Given the description of an element on the screen output the (x, y) to click on. 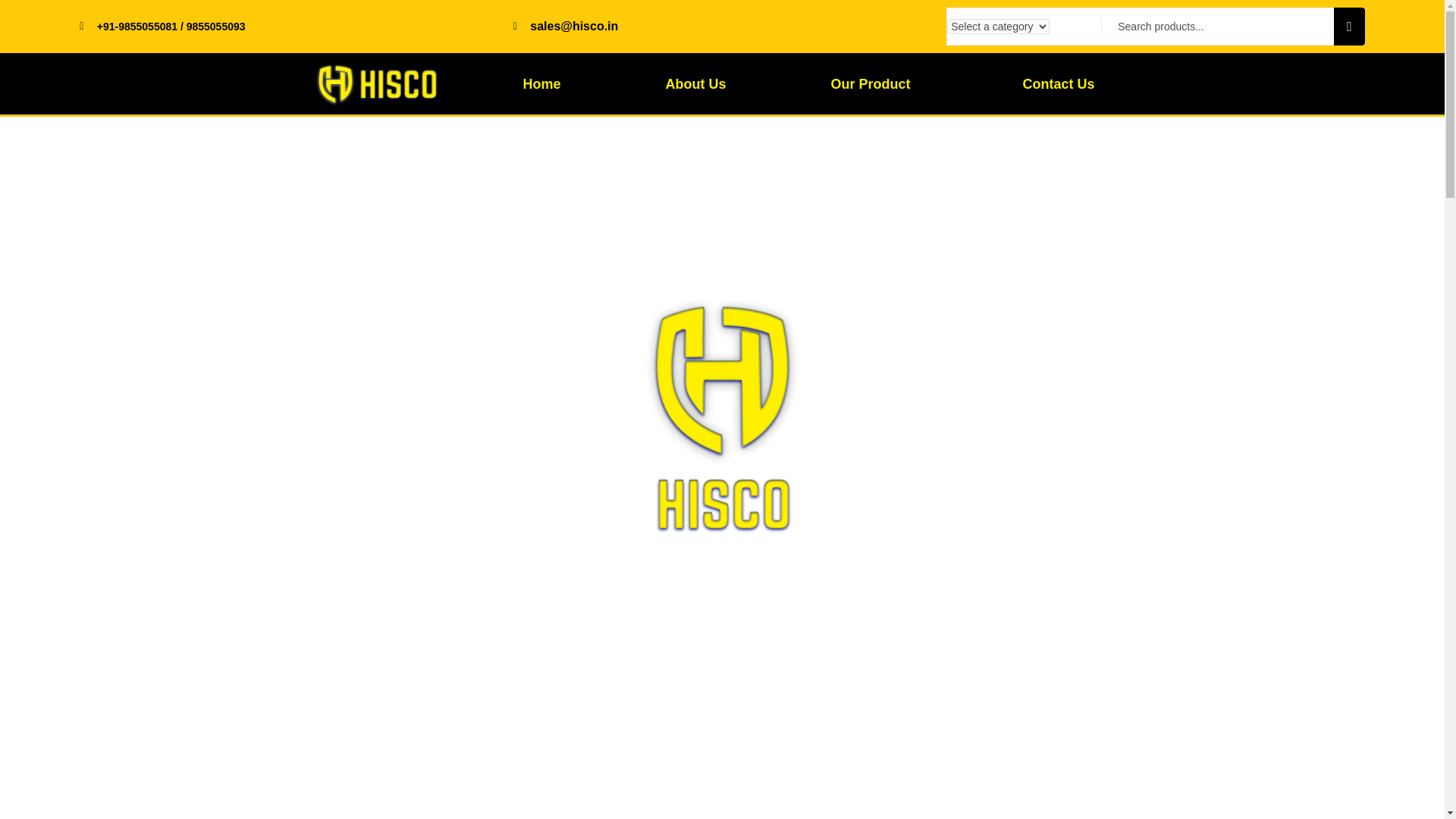
UNCATEGORIZED (285, 432)
UNCATEGORIZED (315, 305)
HOME (247, 305)
Home (541, 83)
By hiscoadmin (274, 463)
Our Product (873, 83)
November 2023 (1021, 465)
October 2023 (1016, 491)
Contact Us (1058, 83)
About Us (694, 83)
